Given the description of an element on the screen output the (x, y) to click on. 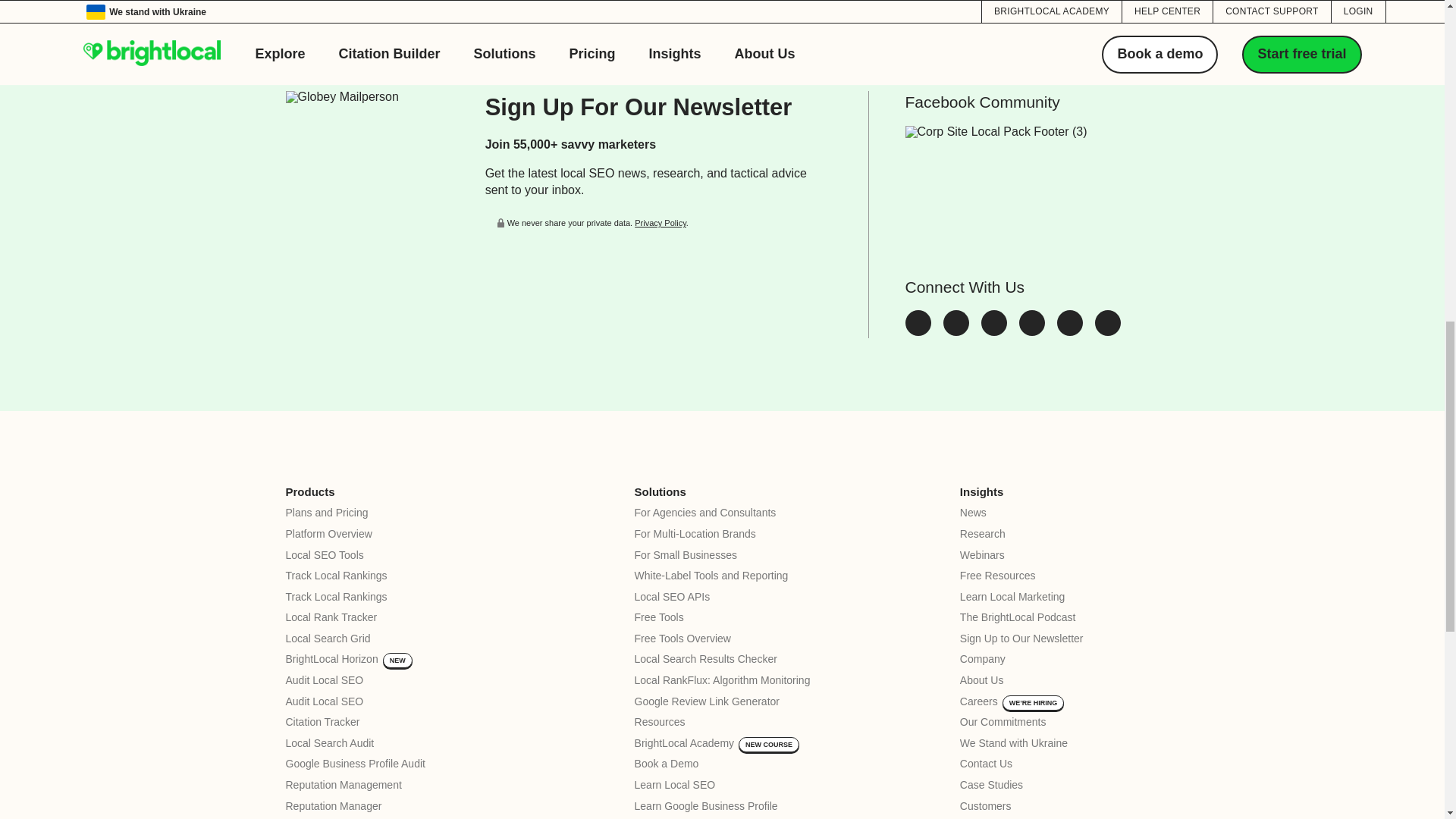
Instagram (1032, 331)
YouTube (1070, 331)
Privacy Policy (659, 222)
Twitter (918, 331)
Facebook (956, 331)
Linkedin (994, 331)
The Local Pack (1107, 331)
